Given the description of an element on the screen output the (x, y) to click on. 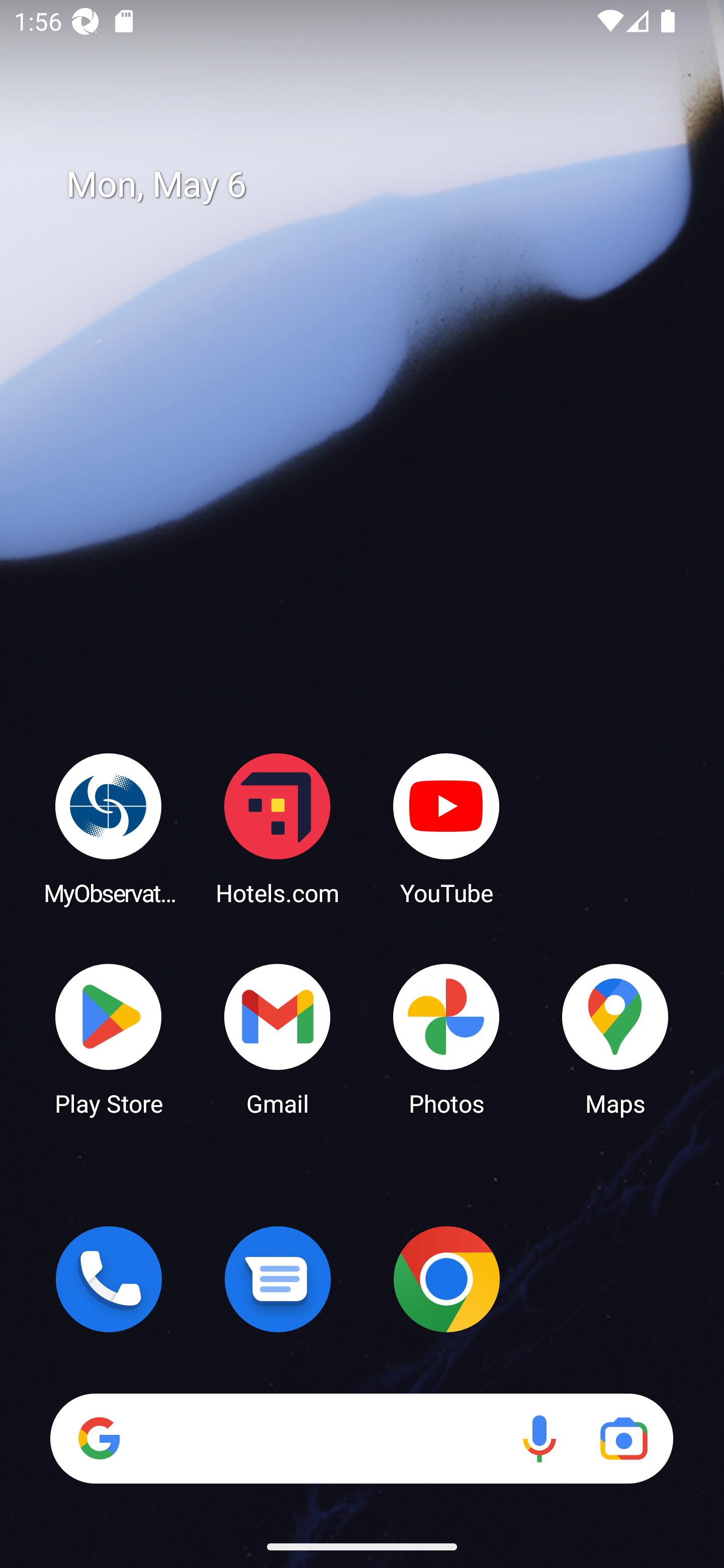
Mon, May 6 (375, 184)
MyObservatory (108, 828)
Hotels.com (277, 828)
YouTube (445, 828)
Play Store (108, 1038)
Gmail (277, 1038)
Photos (445, 1038)
Maps (615, 1038)
Phone (108, 1279)
Messages (277, 1279)
Chrome (446, 1279)
Search Voice search Google Lens (361, 1438)
Voice search (539, 1438)
Google Lens (623, 1438)
